Given the description of an element on the screen output the (x, y) to click on. 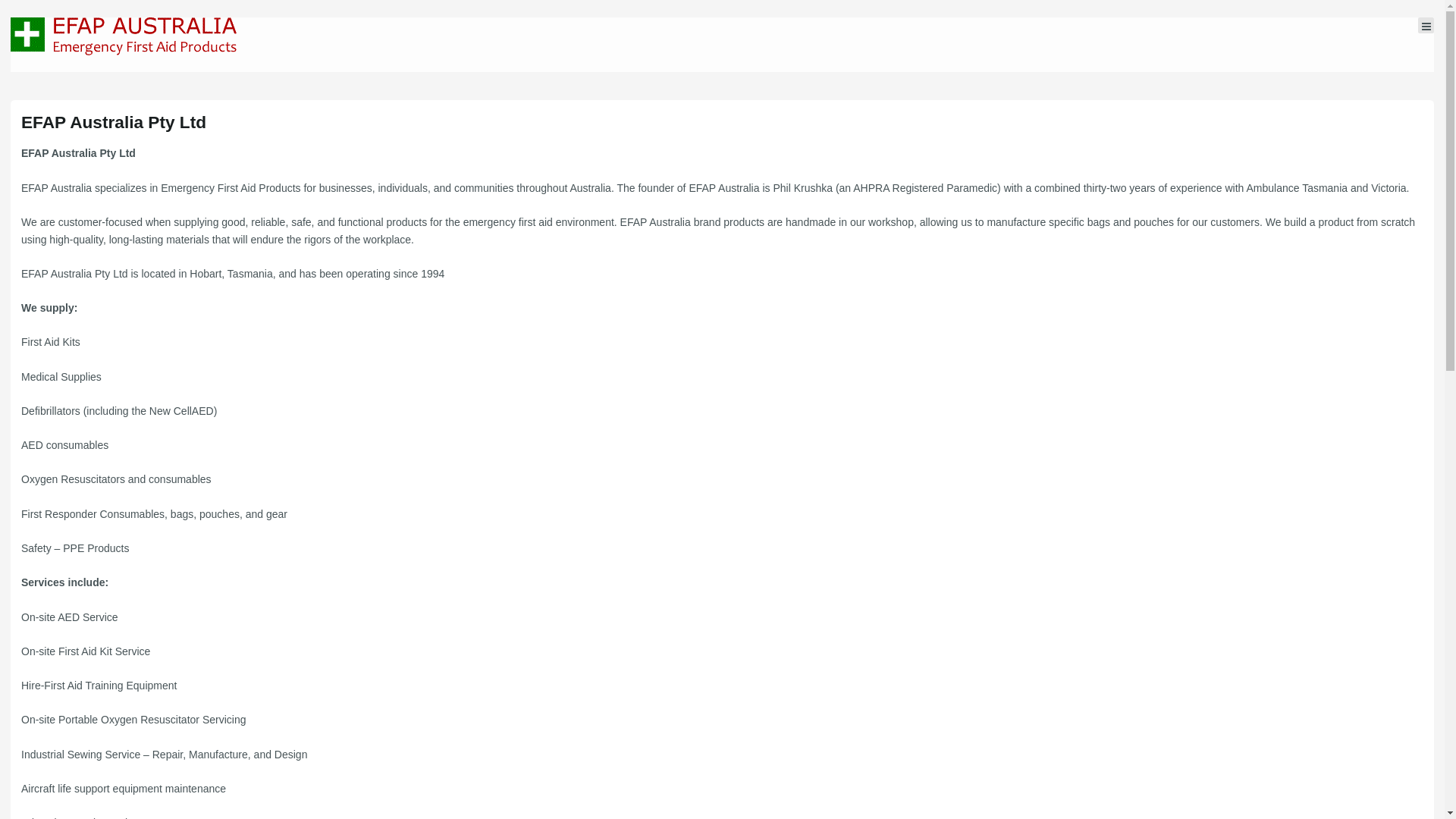
Emergency First Aid Products Tasmania Element type: hover (123, 36)
